Given the description of an element on the screen output the (x, y) to click on. 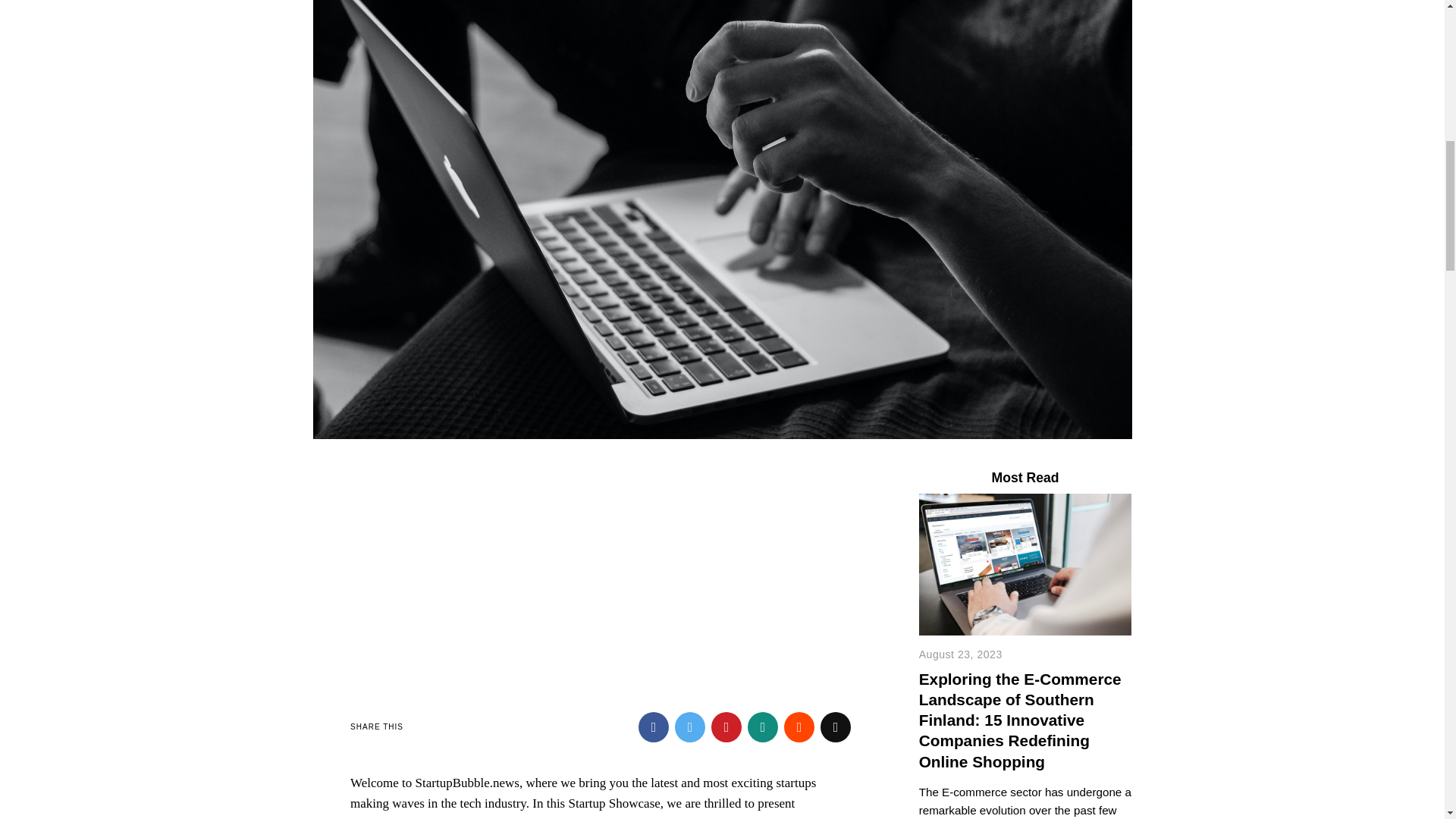
Email (835, 726)
Twitter (689, 726)
Pinterest (726, 726)
Facebook (653, 726)
Reddit (798, 726)
Whatsapp (762, 726)
